Given the description of an element on the screen output the (x, y) to click on. 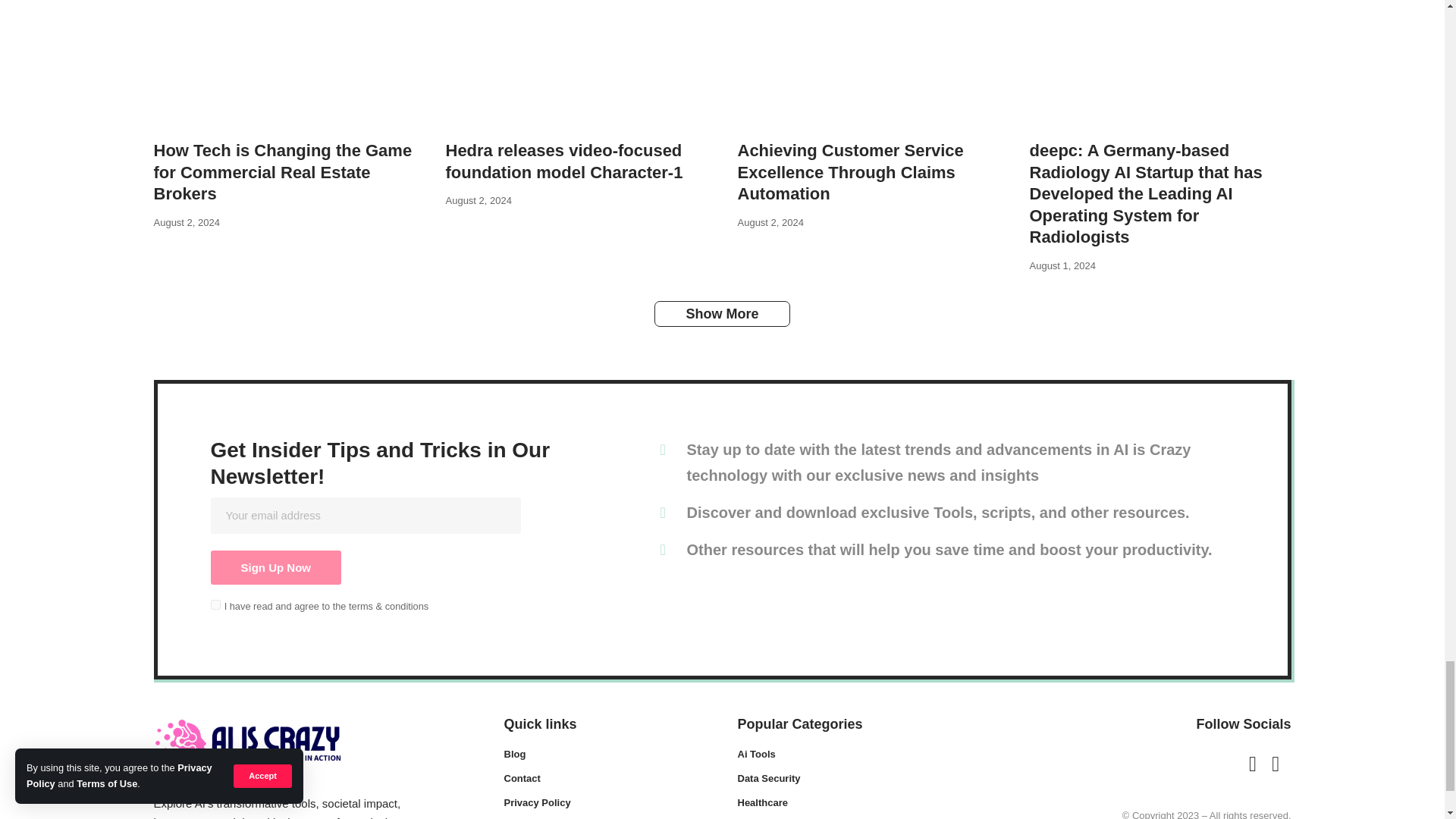
Sign Up Now (276, 567)
Hedra releases video-focused foundation model Character-1 (576, 65)
1 (216, 604)
